Given the description of an element on the screen output the (x, y) to click on. 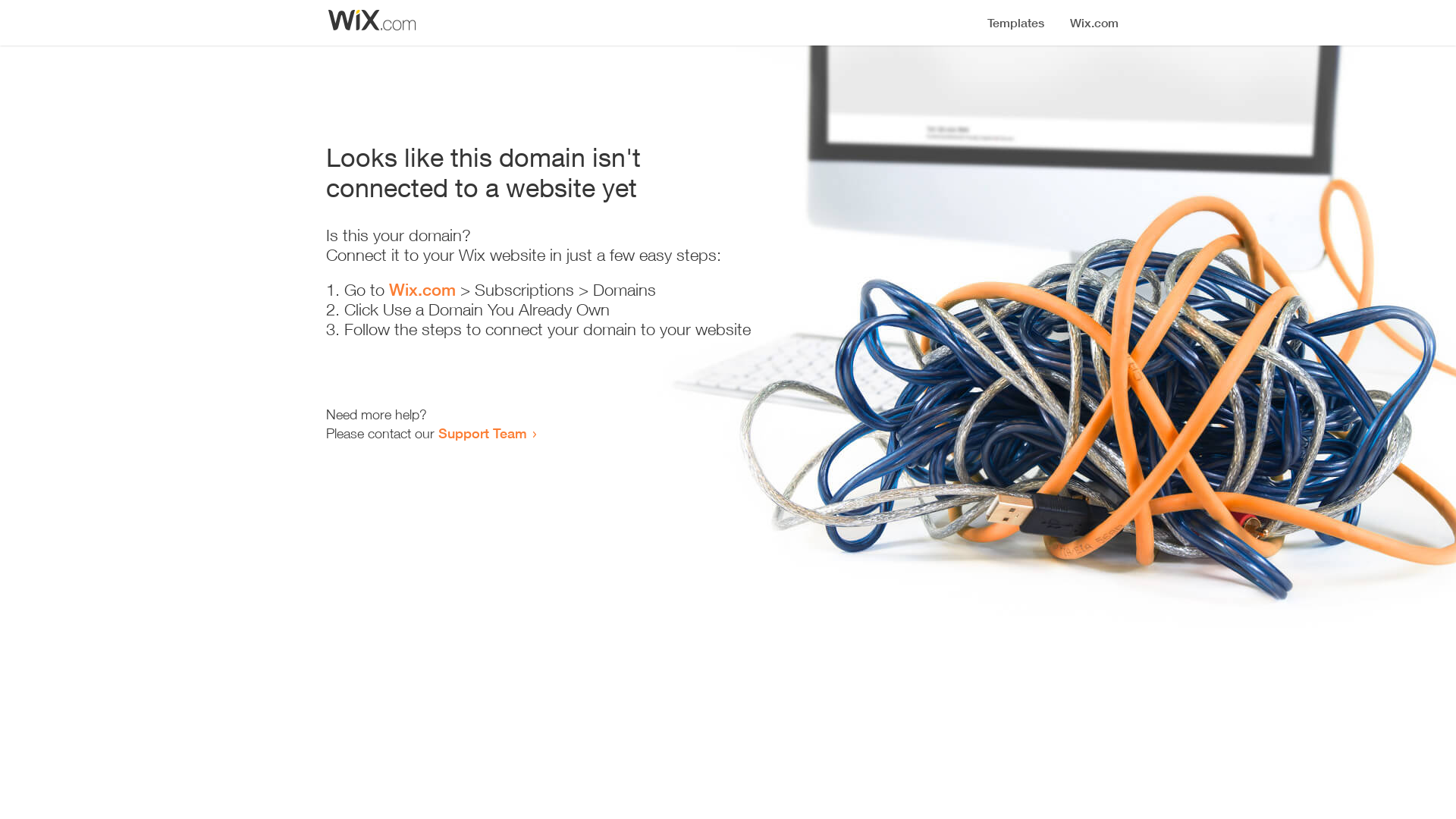
Wix.com Element type: text (422, 289)
Support Team Element type: text (482, 432)
